Given the description of an element on the screen output the (x, y) to click on. 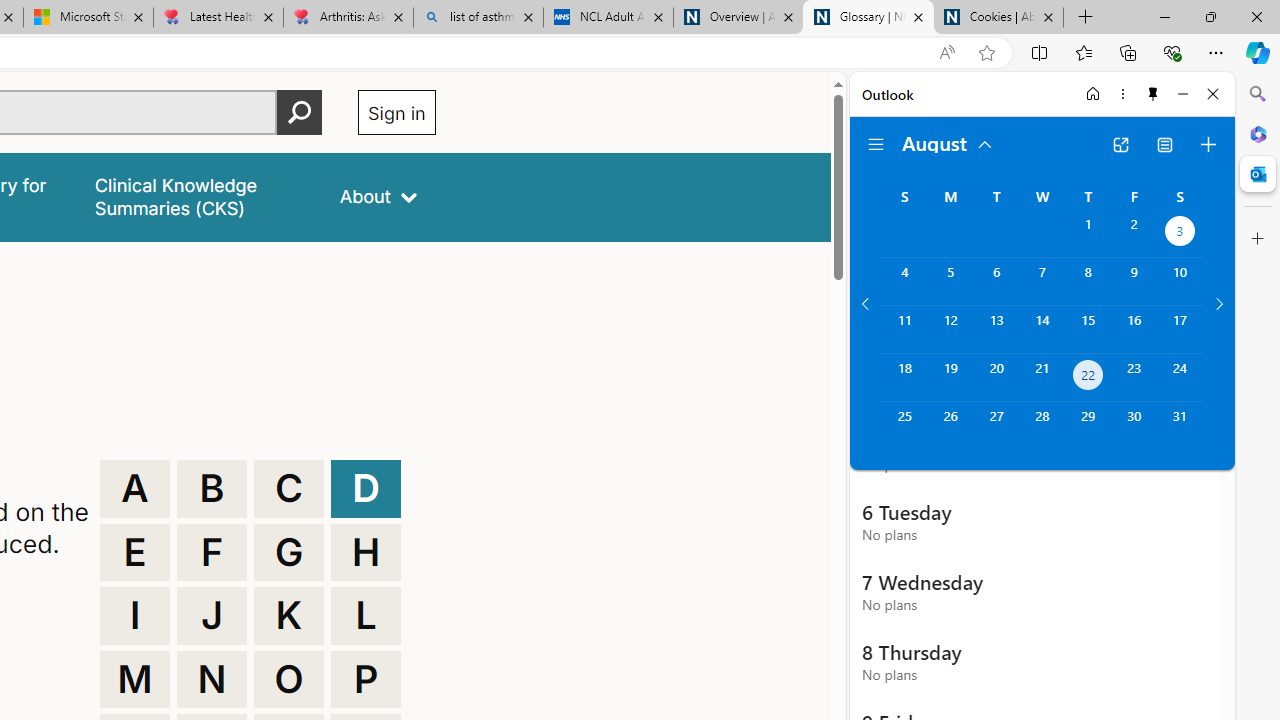
Add this page to favorites (Ctrl+D) (986, 53)
Microsoft 365 (1258, 133)
Friday, August 2, 2024.  (1134, 233)
About (378, 196)
K (289, 615)
Wednesday, August 7, 2024.  (1042, 281)
More options (1122, 93)
New Tab (1085, 17)
Close Customize pane (1258, 239)
N (212, 679)
E (134, 551)
Saturday, August 31, 2024.  (1180, 425)
Favorites (1083, 52)
